Given the description of an element on the screen output the (x, y) to click on. 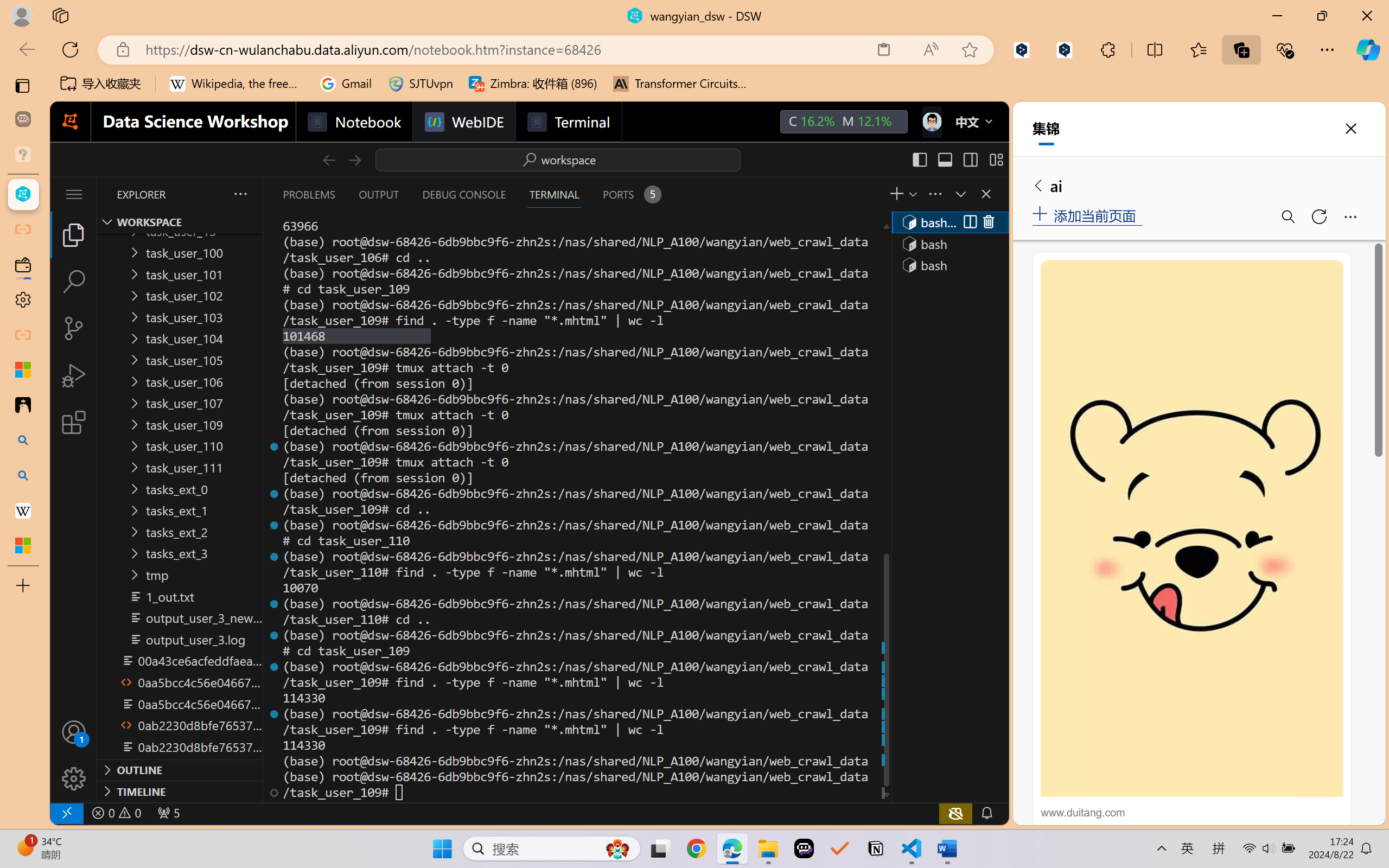
Terminal (568, 121)
Timeline Section (179, 791)
Forwarded Ports: 36301, 47065, 38781, 45817, 50331 (167, 812)
Toggle Primary Side Bar (Ctrl+B) (919, 159)
Toggle Panel (Ctrl+J) (944, 159)
Outline Section (179, 769)
No Problems (115, 812)
Microsoft security help and learning (22, 369)
